Given the description of an element on the screen output the (x, y) to click on. 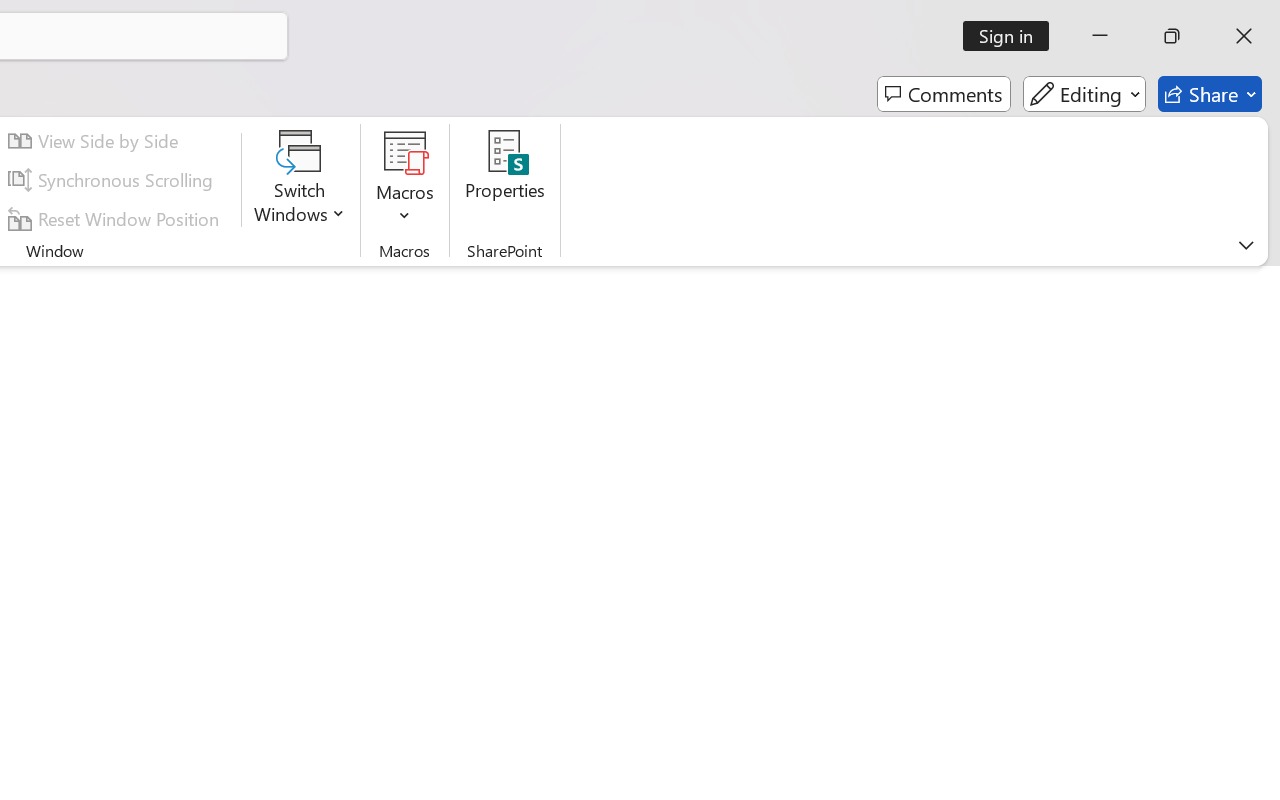
View Side by Side (96, 141)
Sign in (1012, 35)
Macros (404, 179)
Properties (505, 179)
Synchronous Scrolling (114, 179)
Reset Window Position (116, 218)
Switch Windows (299, 179)
